Given the description of an element on the screen output the (x, y) to click on. 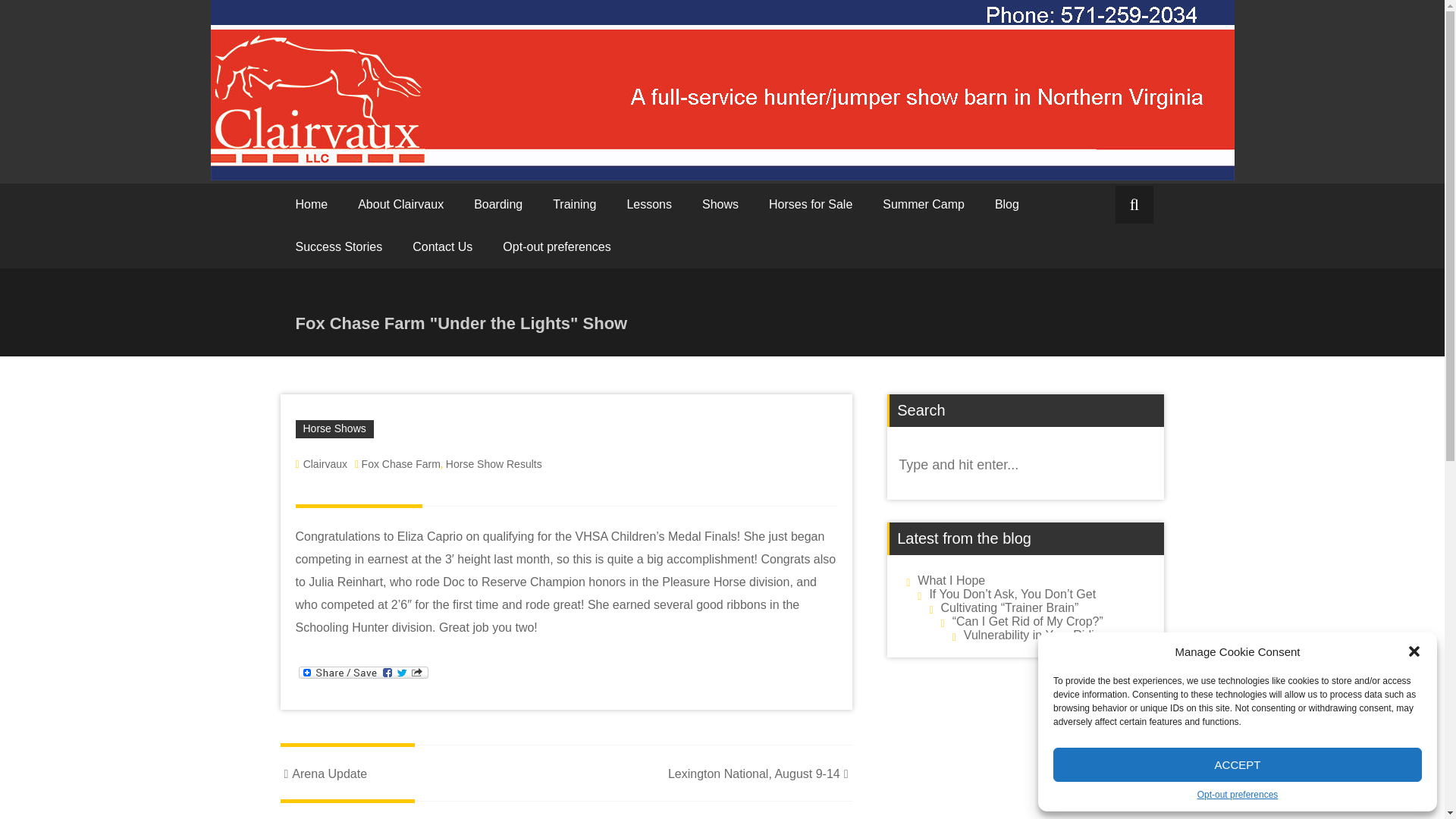
Summer Camp (923, 204)
Lexington National, August 9-14 (759, 773)
Training (574, 204)
Horse Training in leesburg, VA (574, 204)
Boarding (497, 204)
VHSA Horse Shows (720, 204)
Arena Update (324, 773)
Equitation Coaching Success Stories (339, 247)
What I Hope (951, 580)
Fox Chase Farm (401, 463)
Opt-out preferences (1237, 794)
Horses for Sale (810, 204)
ACCEPT (1237, 764)
Lessons (649, 204)
About Clairvaux (400, 204)
